Given the description of an element on the screen output the (x, y) to click on. 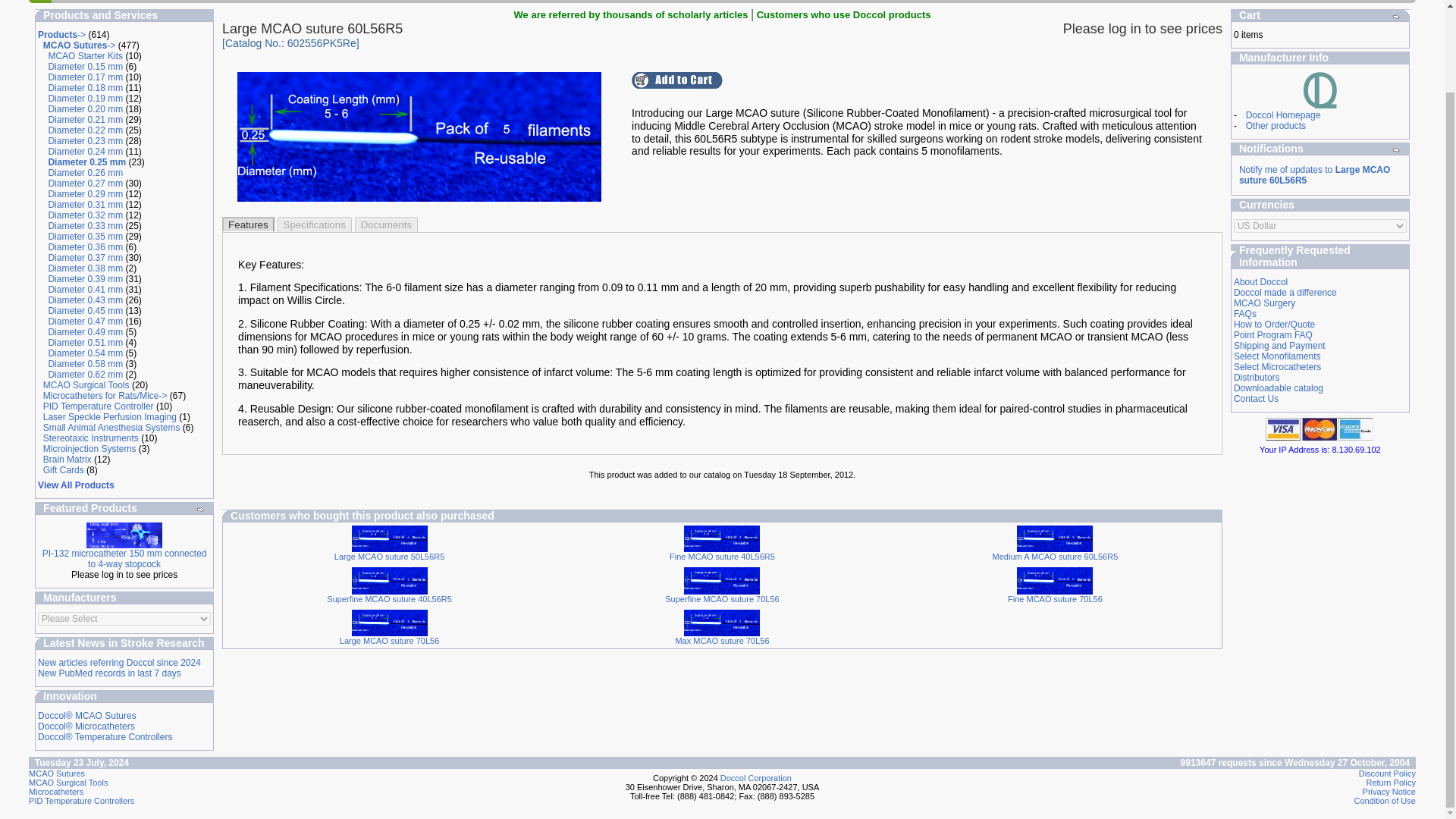
accepted credit cards (1319, 428)
 Add to Cart  (676, 80)
 Superfine MCAO suture 70L56  (722, 580)
 Fine MCAO suture 40L56R5  (722, 538)
 Fine MCAO suture 70L56  (1054, 580)
 more  (200, 509)
 more  (1395, 149)
 PI-132 microcatheter 150 mm connected to 4-way stopcock  (123, 534)
 more  (1395, 16)
 Large MCAO suture 50L56R5  (390, 538)
 Max MCAO suture 70L56  (722, 623)
Products (285, 1)
 Medium A MCAO suture 60L56R5  (1054, 538)
About Us (221, 1)
